Given the description of an element on the screen output the (x, y) to click on. 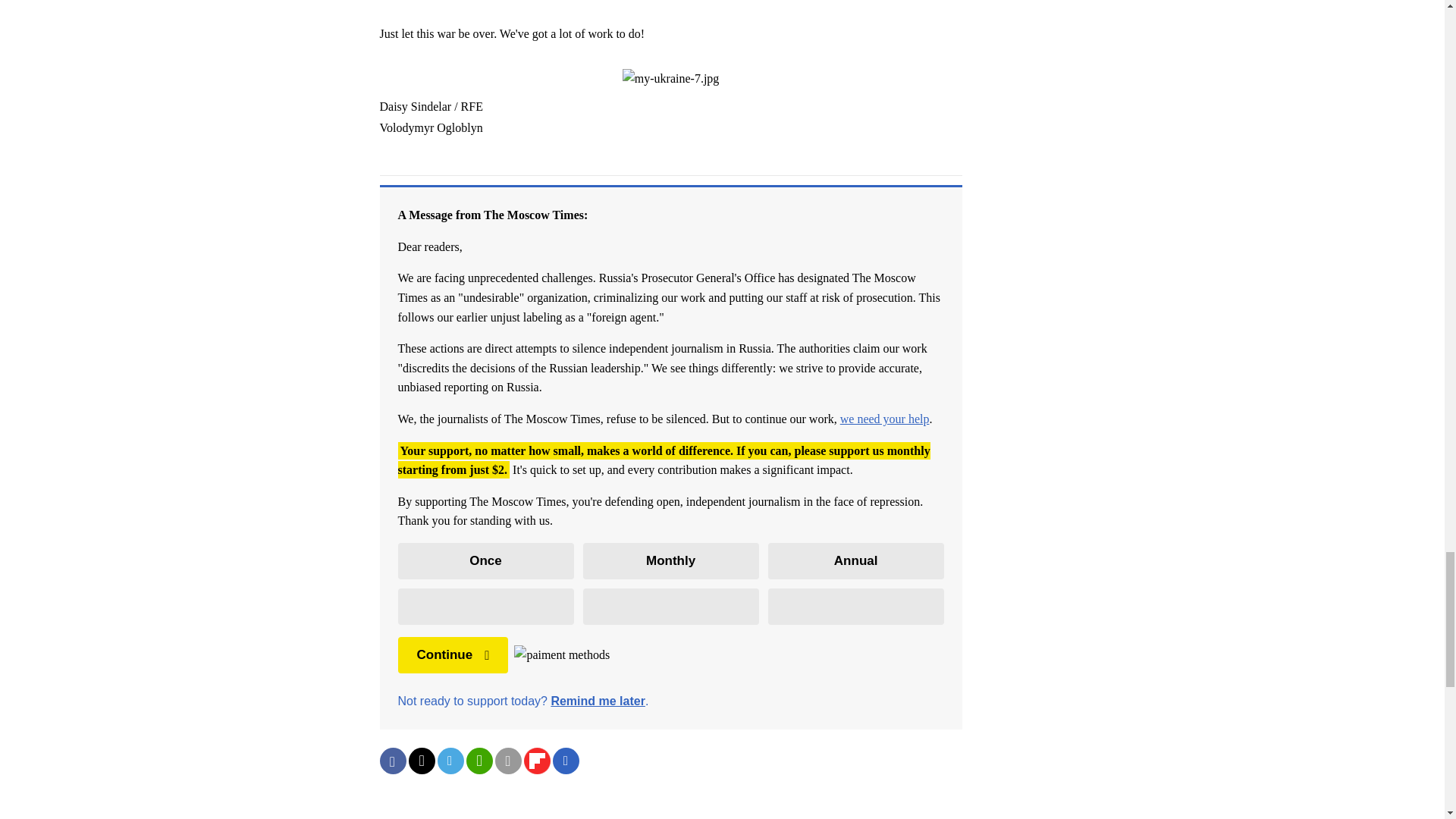
we need your help (885, 418)
Share on Facebook (392, 760)
my-ukraine-7.jpg (671, 78)
Share on Twitter (420, 760)
